Given the description of an element on the screen output the (x, y) to click on. 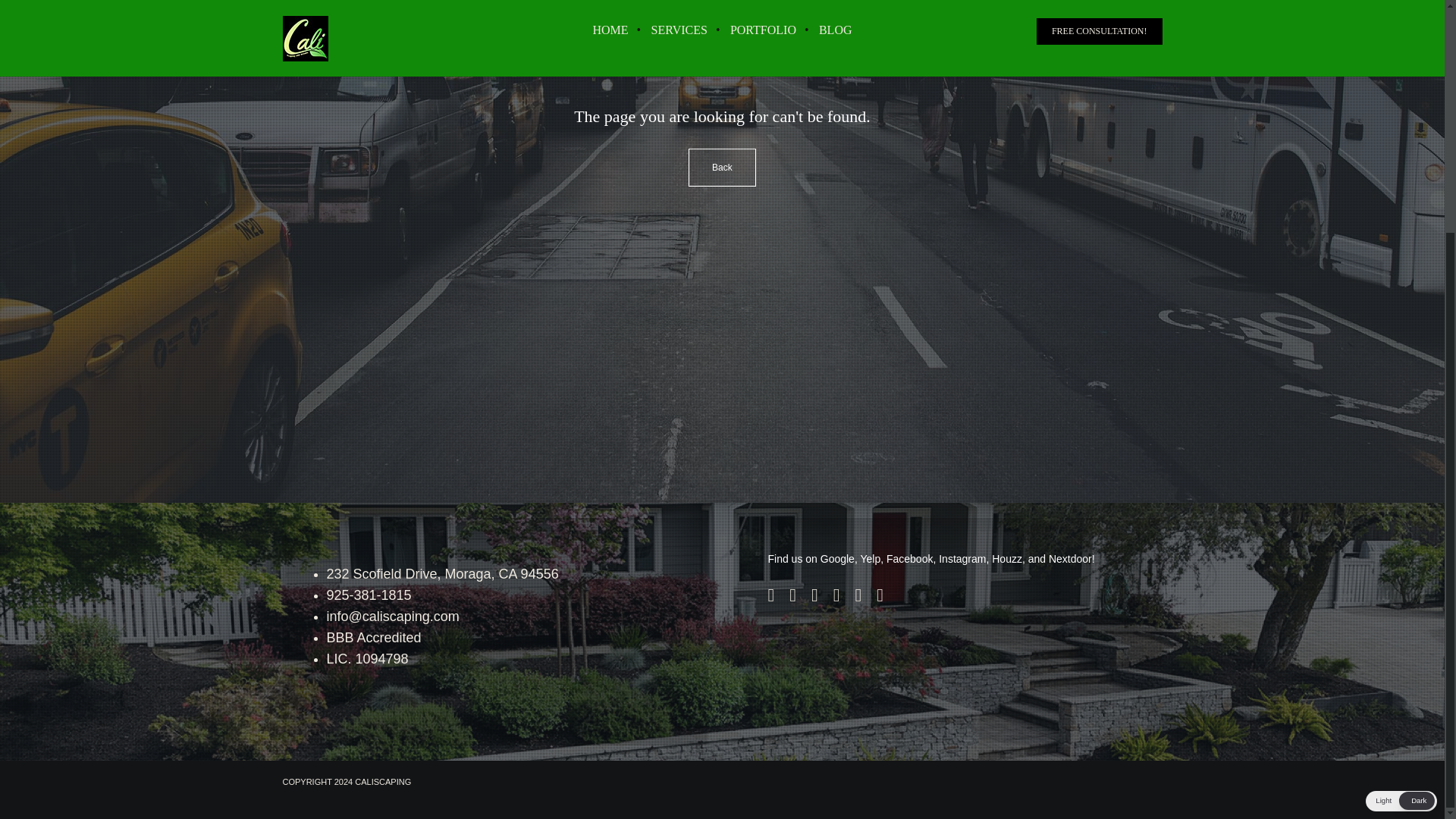
Back (721, 167)
